Given the description of an element on the screen output the (x, y) to click on. 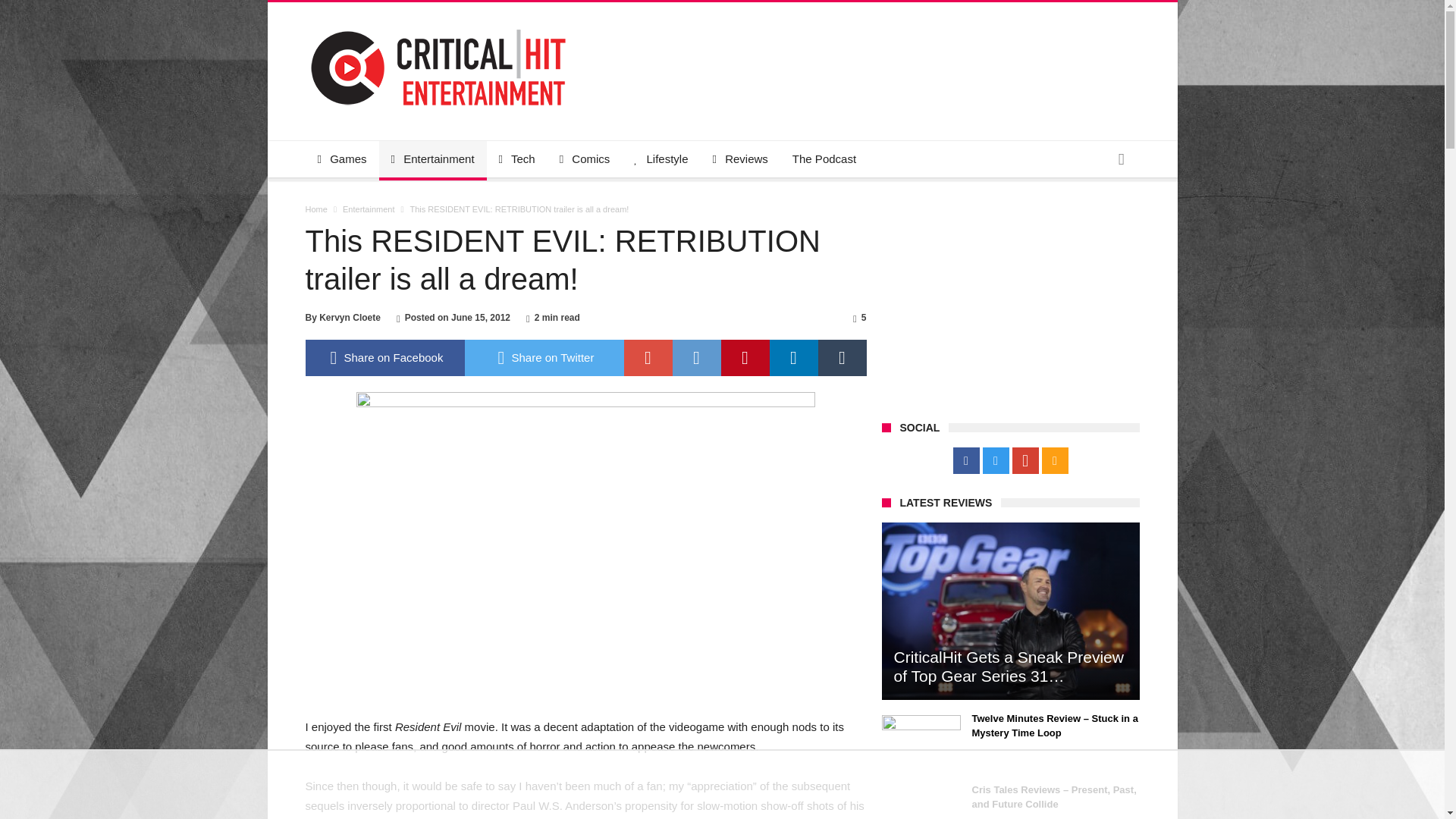
pinterest (744, 357)
linkedin (792, 357)
Share on Tumblr (841, 357)
Reviews (740, 158)
Share on Linkedin (792, 357)
The Podcast (823, 158)
Share on Facebook (384, 357)
twitter (543, 357)
Comics (585, 158)
Entertainment (368, 208)
